Given the description of an element on the screen output the (x, y) to click on. 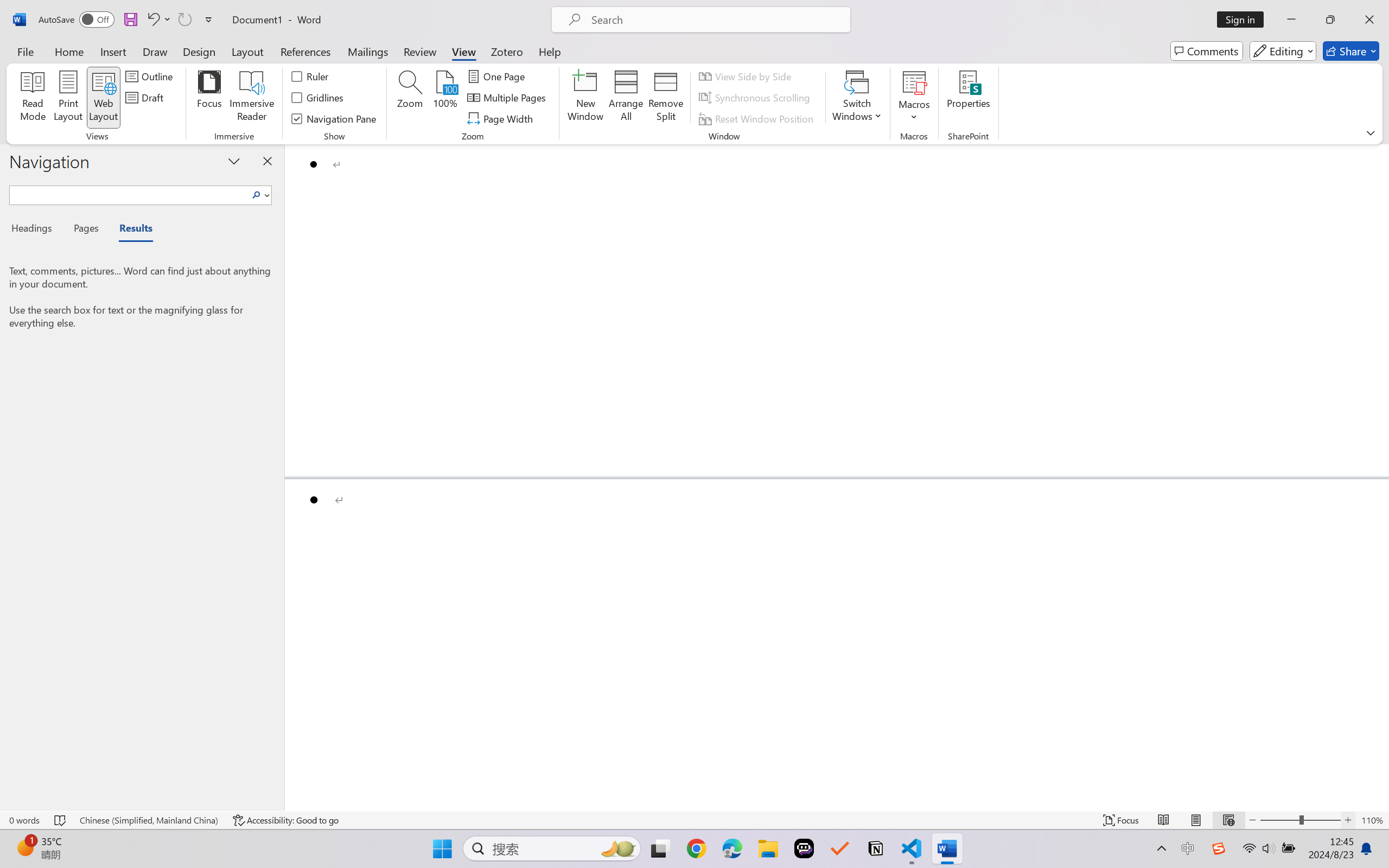
Synchronous Scrolling (755, 97)
Focus (209, 97)
Ruler (309, 75)
Immersive Reader (251, 97)
Page Width (501, 118)
